Given the description of an element on the screen output the (x, y) to click on. 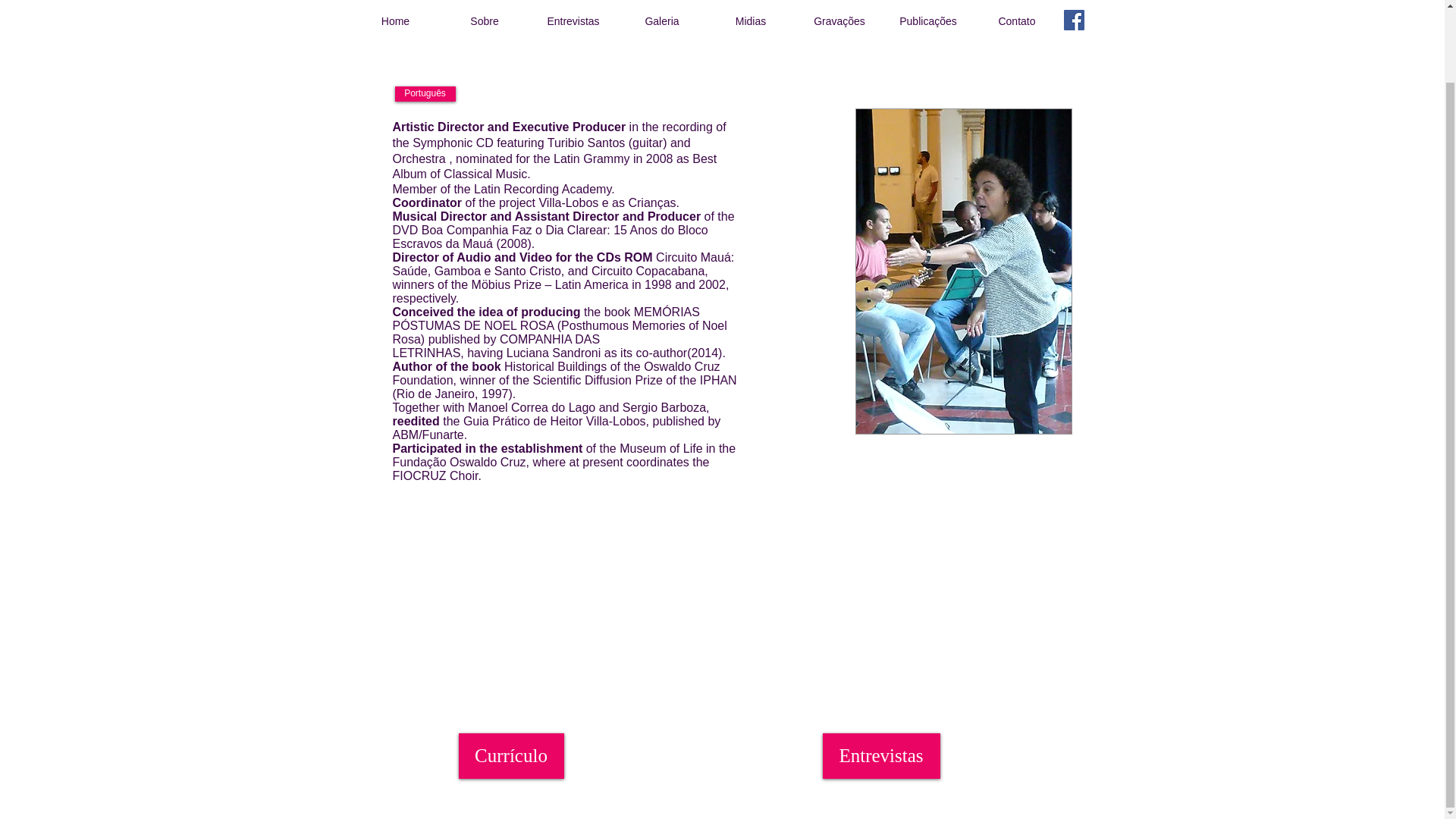
Entrevistas (573, 20)
Entrevistas (880, 755)
Midias (750, 20)
Contato (1016, 20)
Sobre (483, 20)
Home (394, 20)
Galeria (661, 20)
